Given the description of an element on the screen output the (x, y) to click on. 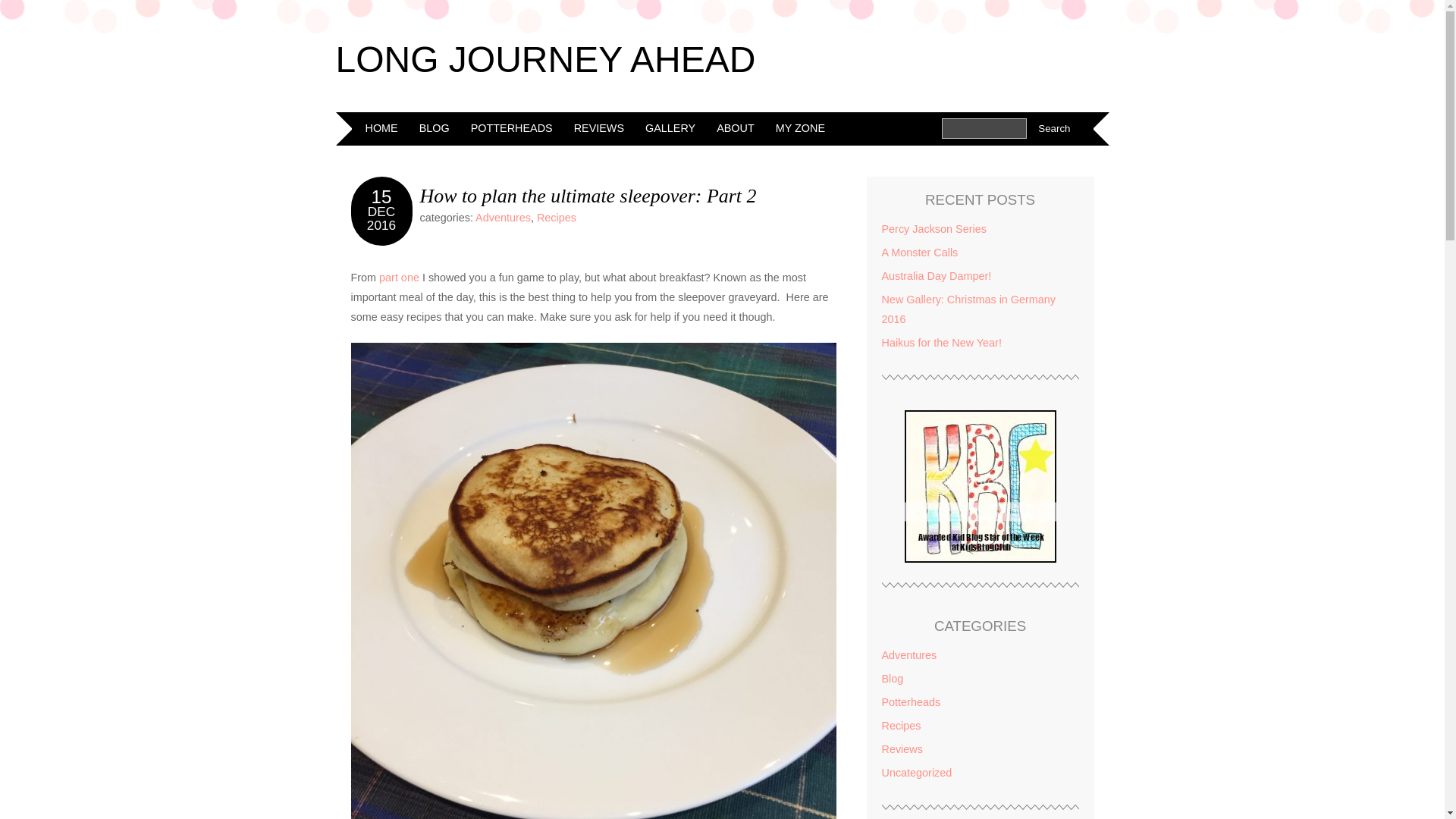
Uncategorized (916, 772)
BLOG (434, 128)
KidsBlogClub (979, 558)
ABOUT (735, 128)
Search (1053, 127)
MY ZONE (800, 128)
Search (1053, 127)
Australia Day Damper! (935, 275)
Potterheads (910, 702)
Percy Jackson Series (932, 228)
